Given the description of an element on the screen output the (x, y) to click on. 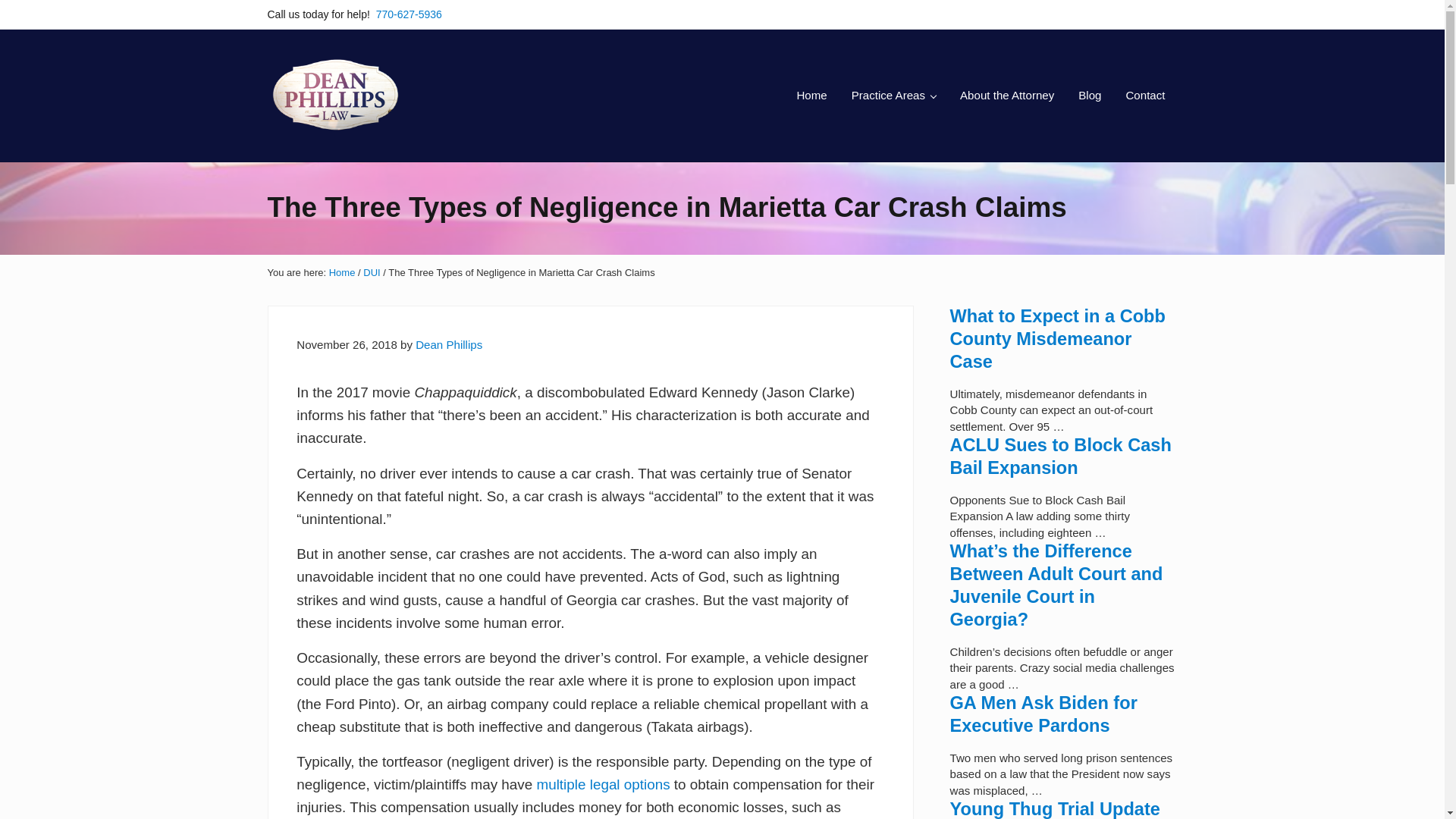
Practice Areas (893, 95)
Home (811, 95)
770-627-5936 (408, 14)
